Given the description of an element on the screen output the (x, y) to click on. 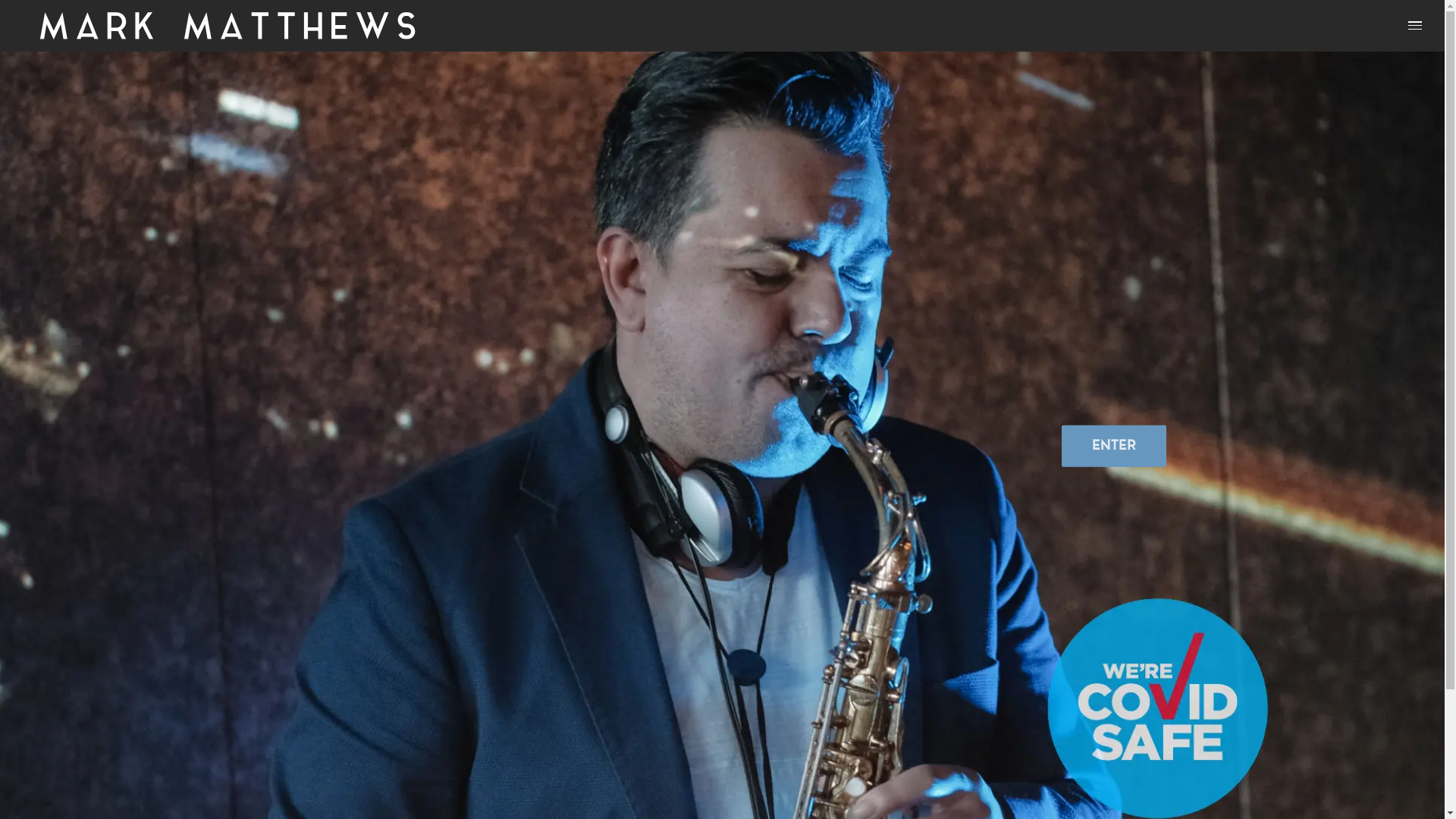
ENTER Element type: text (1113, 446)
